Given the description of an element on the screen output the (x, y) to click on. 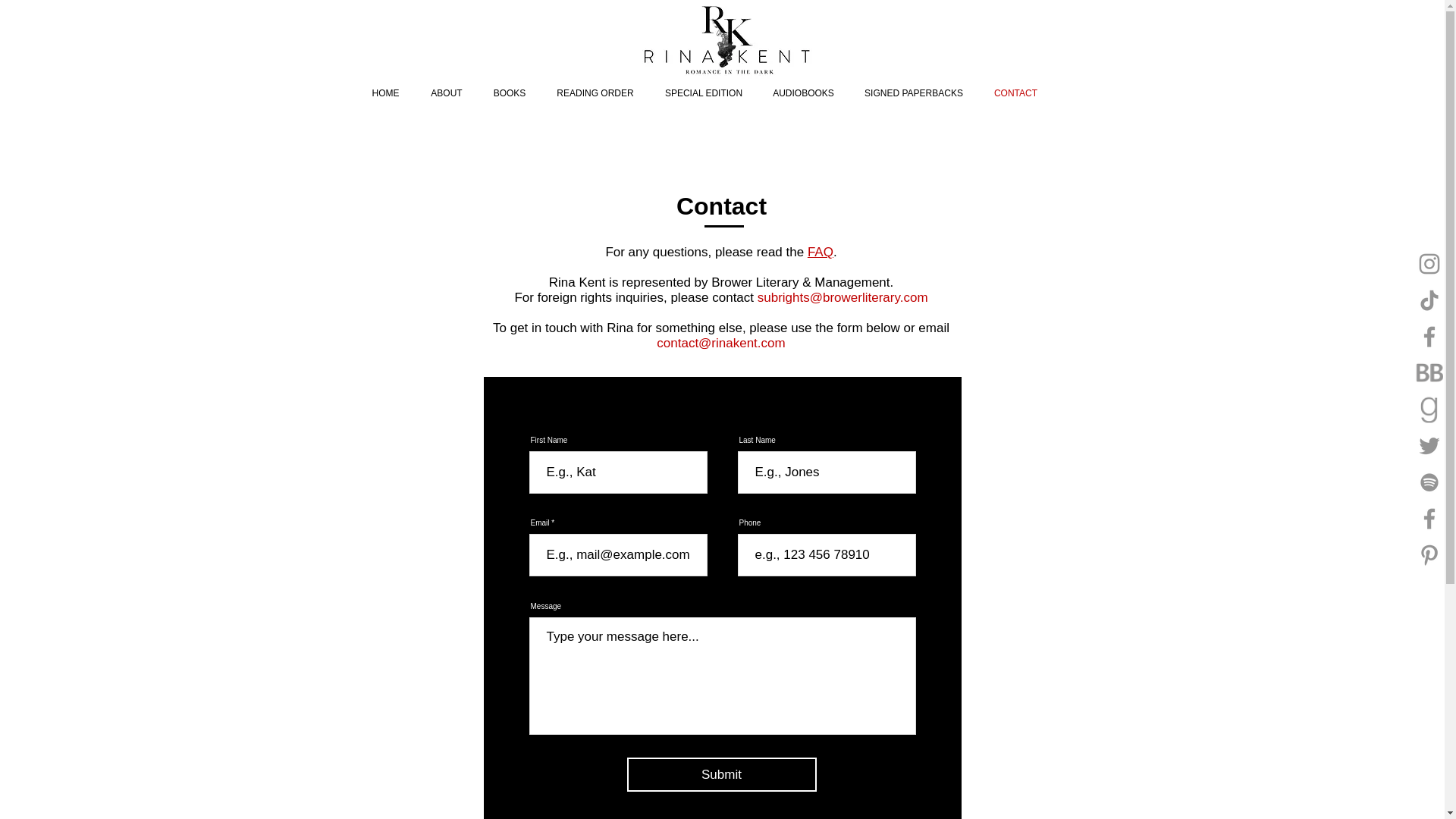
CONTACT (1015, 92)
FAQ (820, 251)
BOOKS (508, 92)
ABOUT (446, 92)
AUDIOBOOKS (803, 92)
READING ORDER (595, 92)
SIGNED PAPERBACKS (913, 92)
Submit (720, 774)
HOME (385, 92)
SPECIAL EDITION (703, 92)
